Given the description of an element on the screen output the (x, y) to click on. 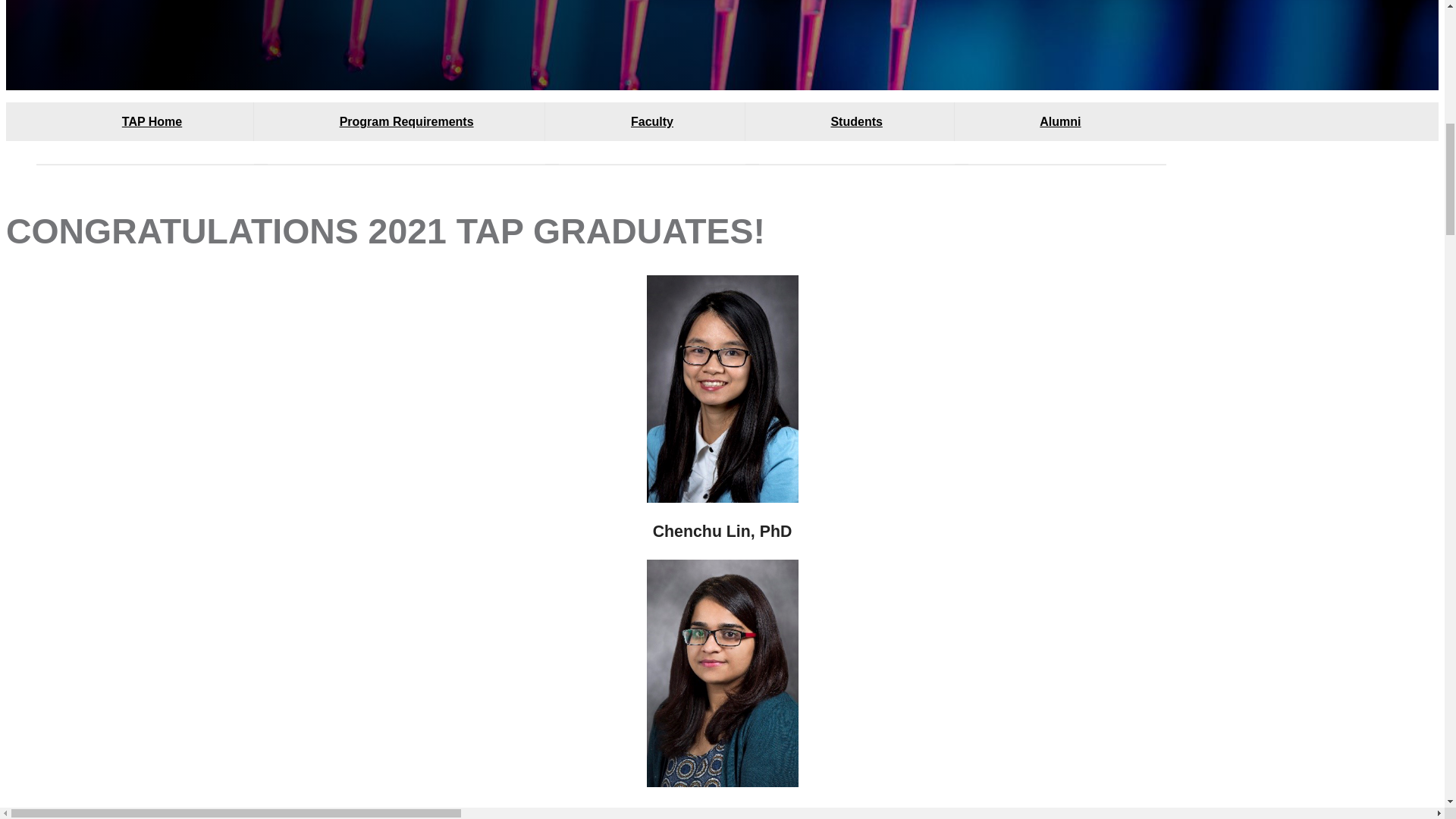
Students (856, 133)
TAP Home (151, 133)
Program Requirements (406, 133)
Faculty (651, 133)
Alumni (1061, 133)
